Given the description of an element on the screen output the (x, y) to click on. 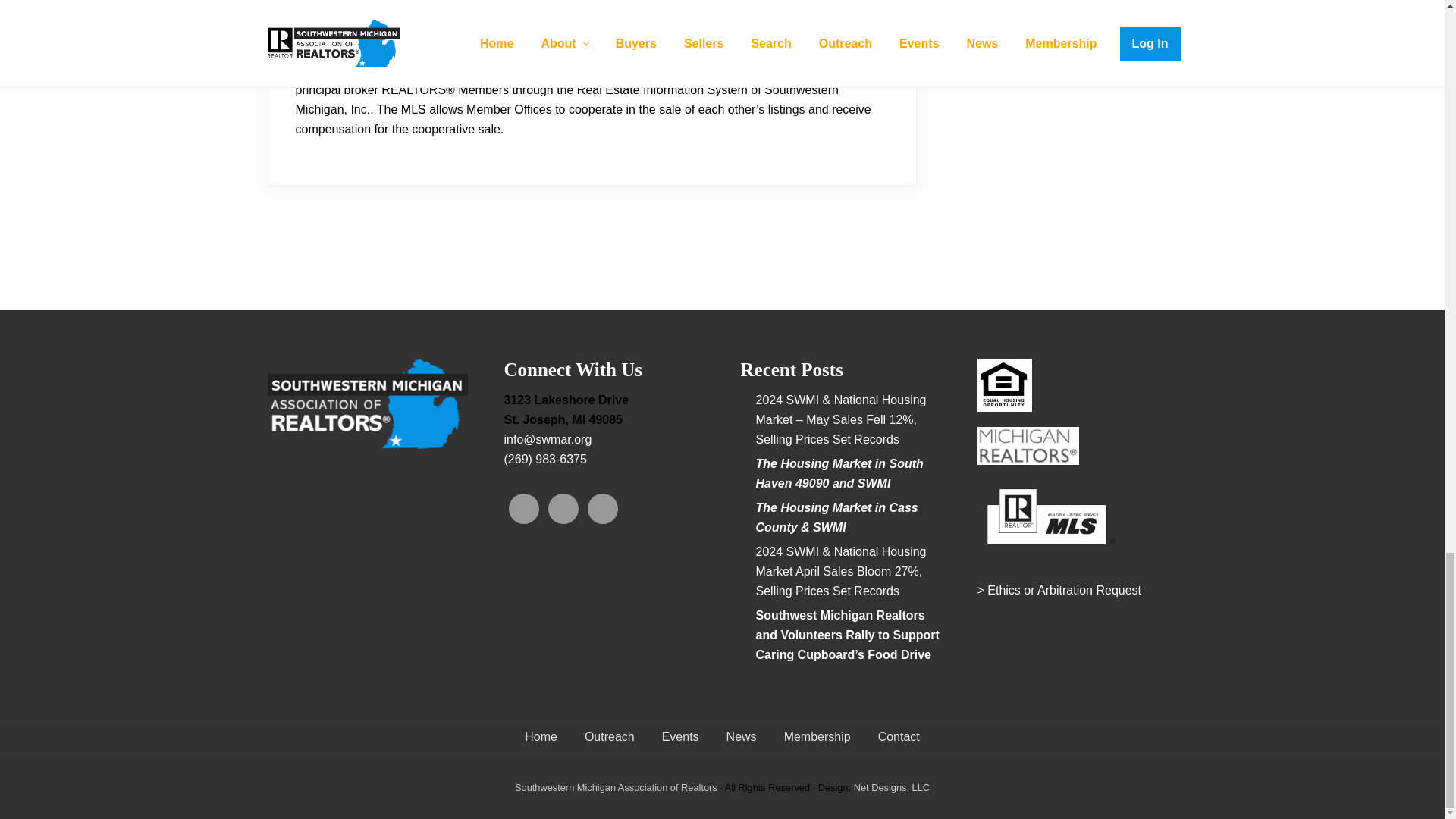
Southwestern Michigan Association of Realtors (616, 787)
